Given the description of an element on the screen output the (x, y) to click on. 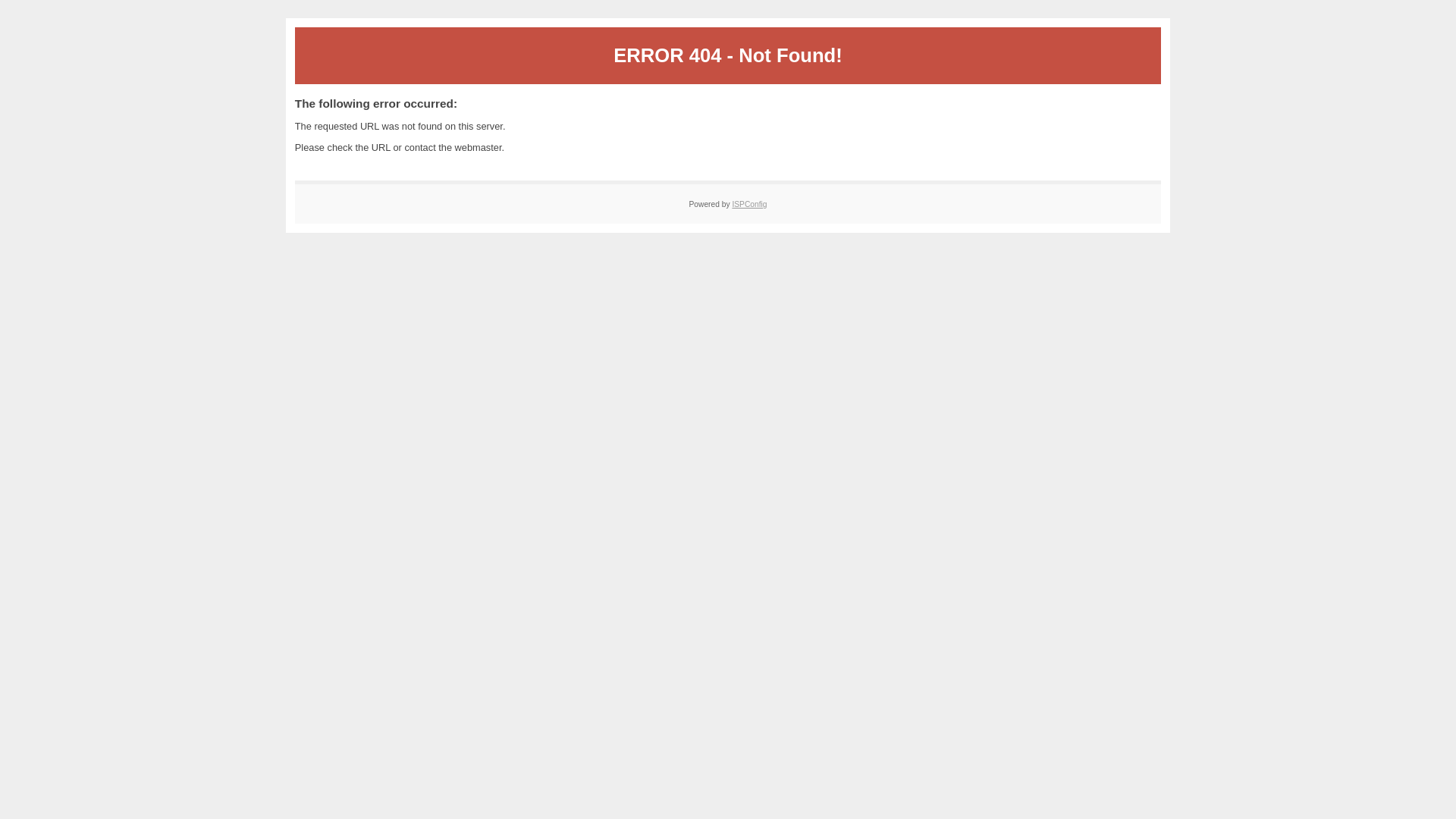
ISPConfig (749, 203)
